Given the description of an element on the screen output the (x, y) to click on. 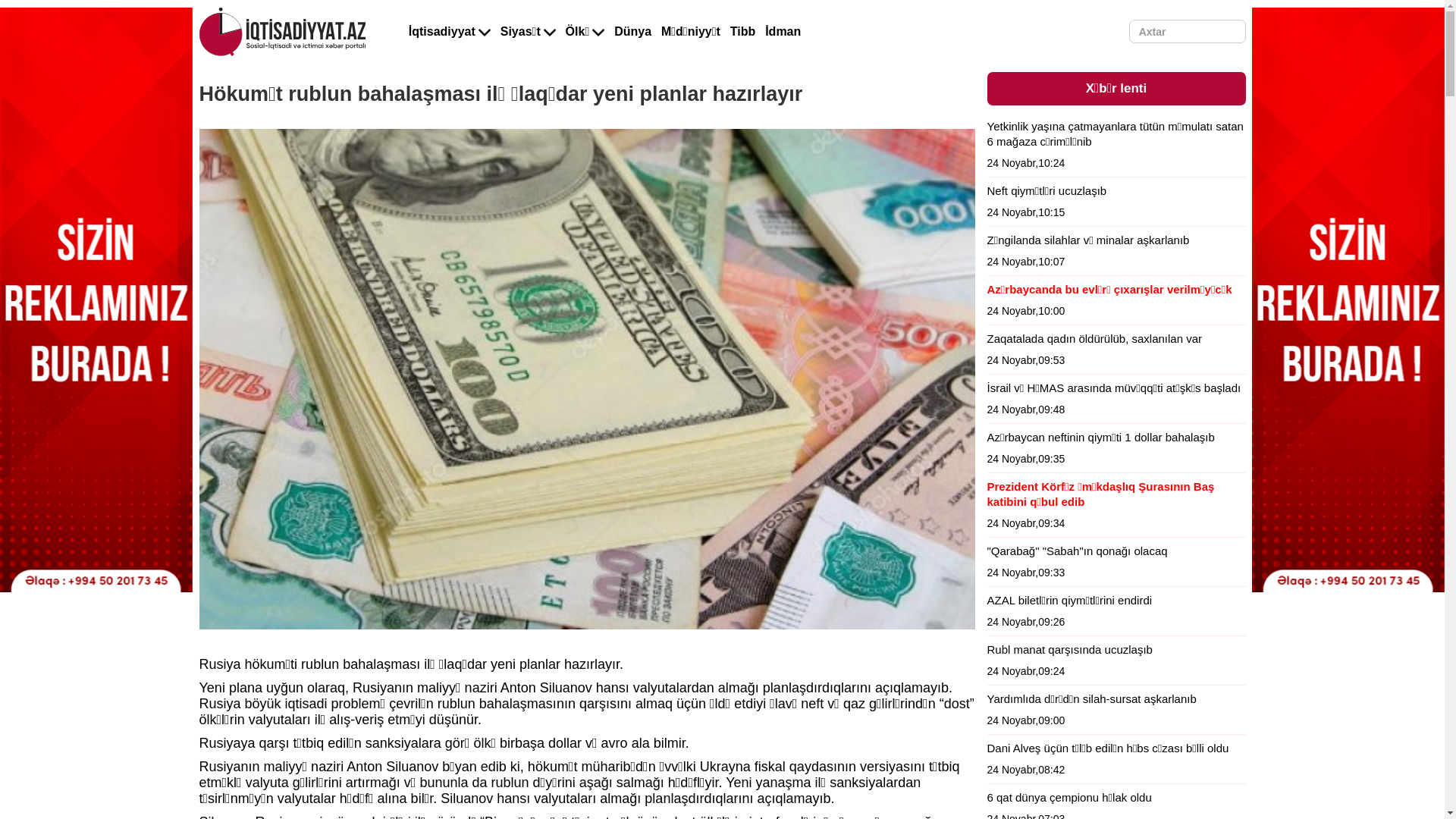
Tibb Element type: text (742, 31)
